Given the description of an element on the screen output the (x, y) to click on. 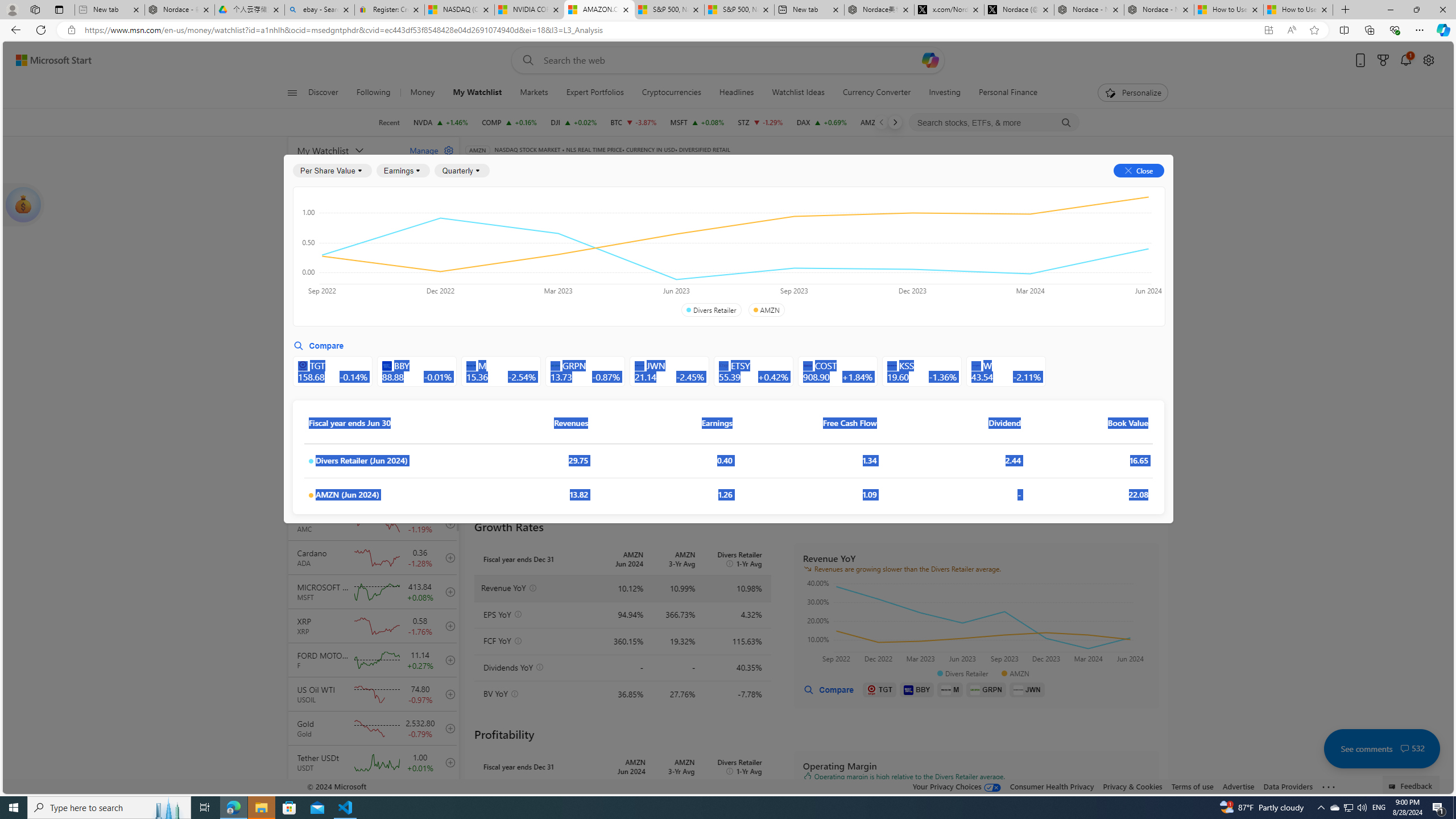
TGT (879, 689)
Cash Flow (663, 223)
Headlines (736, 92)
Per Share Values (531, 253)
Privacy & Cookies (1131, 785)
Leverage & Liquidity (782, 253)
Balance Sheet (614, 223)
Data Providers (1288, 785)
Personalize (1132, 92)
Growth Rates (602, 253)
